Given the description of an element on the screen output the (x, y) to click on. 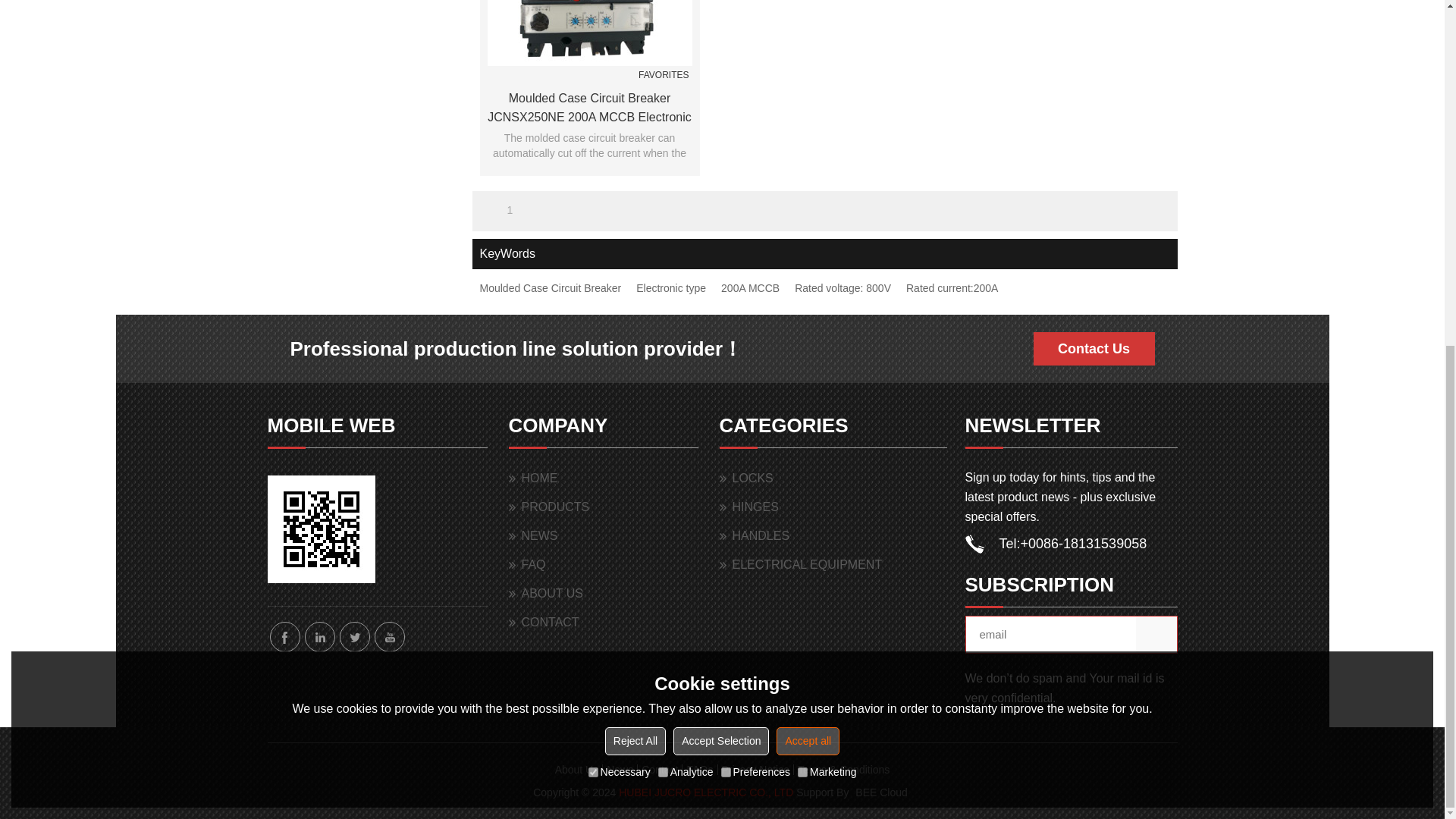
on (663, 179)
on (593, 179)
1 (509, 210)
on (802, 179)
FAVORITES (665, 75)
on (725, 179)
